Given the description of an element on the screen output the (x, y) to click on. 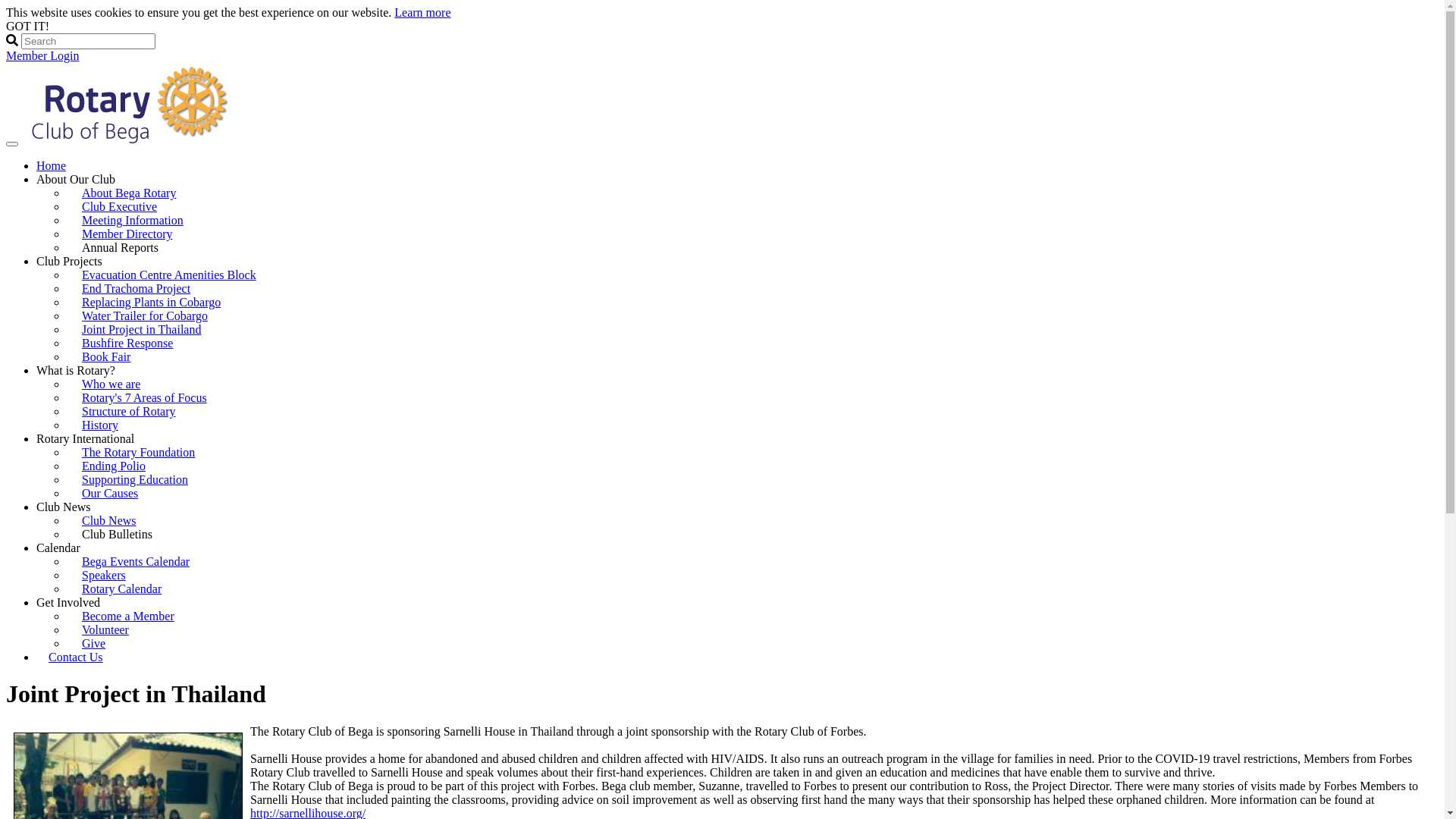
Bushfire Response Element type: text (127, 342)
Meeting Information Element type: text (132, 220)
Get Involved Element type: text (68, 602)
Learn more Element type: text (422, 12)
Club Executive Element type: text (119, 206)
Club Projects Element type: text (69, 260)
The Rotary Foundation Element type: text (138, 452)
Replacing Plants in Cobargo Element type: text (150, 301)
Structure of Rotary Element type: text (128, 411)
Evacuation Centre Amenities Block Element type: text (168, 274)
Rotary International Element type: text (85, 438)
Become a Member Element type: text (127, 615)
Water Trailer for Cobargo Element type: text (144, 315)
Club News Element type: text (63, 506)
Calendar Element type: text (58, 547)
Book Fair Element type: text (105, 356)
About Our Club Element type: text (75, 178)
Contact Us Element type: text (75, 657)
Member Directory Element type: text (127, 233)
Supporting Education Element type: text (134, 479)
Home Element type: text (50, 165)
Rotary's 7 Areas of Focus Element type: text (144, 397)
End Trachoma Project Element type: text (135, 288)
Give Element type: text (93, 643)
What is Rotary? Element type: text (75, 370)
Speakers Element type: text (103, 574)
Toggle navigation Element type: text (12, 143)
Bega Events Calendar Element type: text (135, 561)
Rotary Calendar Element type: text (121, 588)
Joint Project in Thailand Element type: text (141, 329)
Member Login Element type: text (42, 55)
History Element type: text (99, 424)
Our Causes Element type: text (109, 493)
Who we are Element type: text (110, 383)
About Bega Rotary Element type: text (128, 192)
Ending Polio Element type: text (113, 465)
GOT IT! Element type: text (27, 25)
Volunteer Element type: text (105, 629)
Club News Element type: text (108, 520)
